Given the description of an element on the screen output the (x, y) to click on. 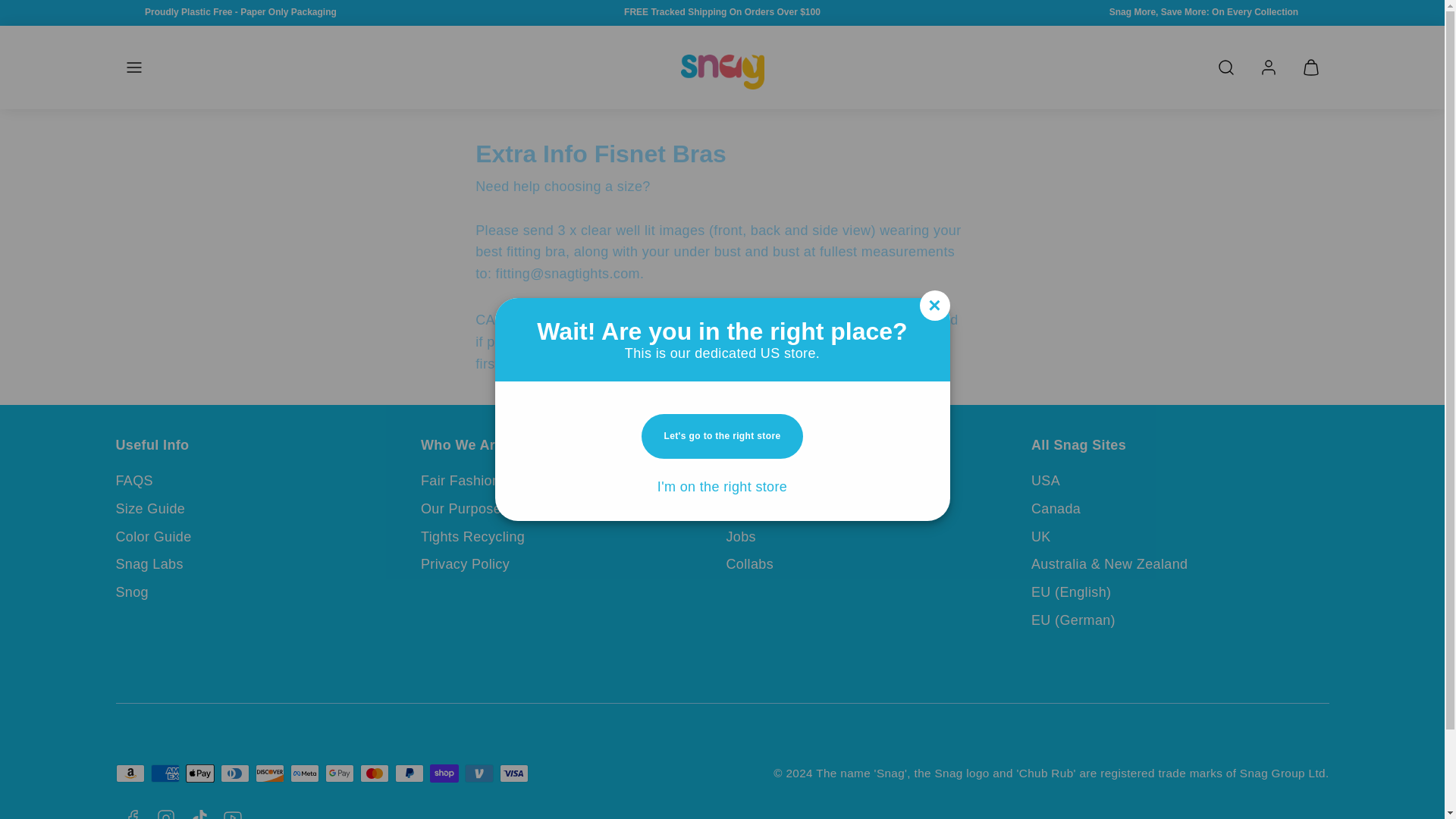
Mastercard (373, 773)
Google Pay (338, 773)
MENU (133, 67)
Visa (513, 773)
Discover (268, 773)
Shop Pay (443, 773)
Apple Pay (199, 773)
ACCOUNT (1267, 67)
Meta Pay (303, 773)
Diners Club (233, 773)
SEARCH (1225, 67)
Amazon (129, 773)
PayPal (408, 773)
Venmo (478, 773)
American Express (164, 773)
